Given the description of an element on the screen output the (x, y) to click on. 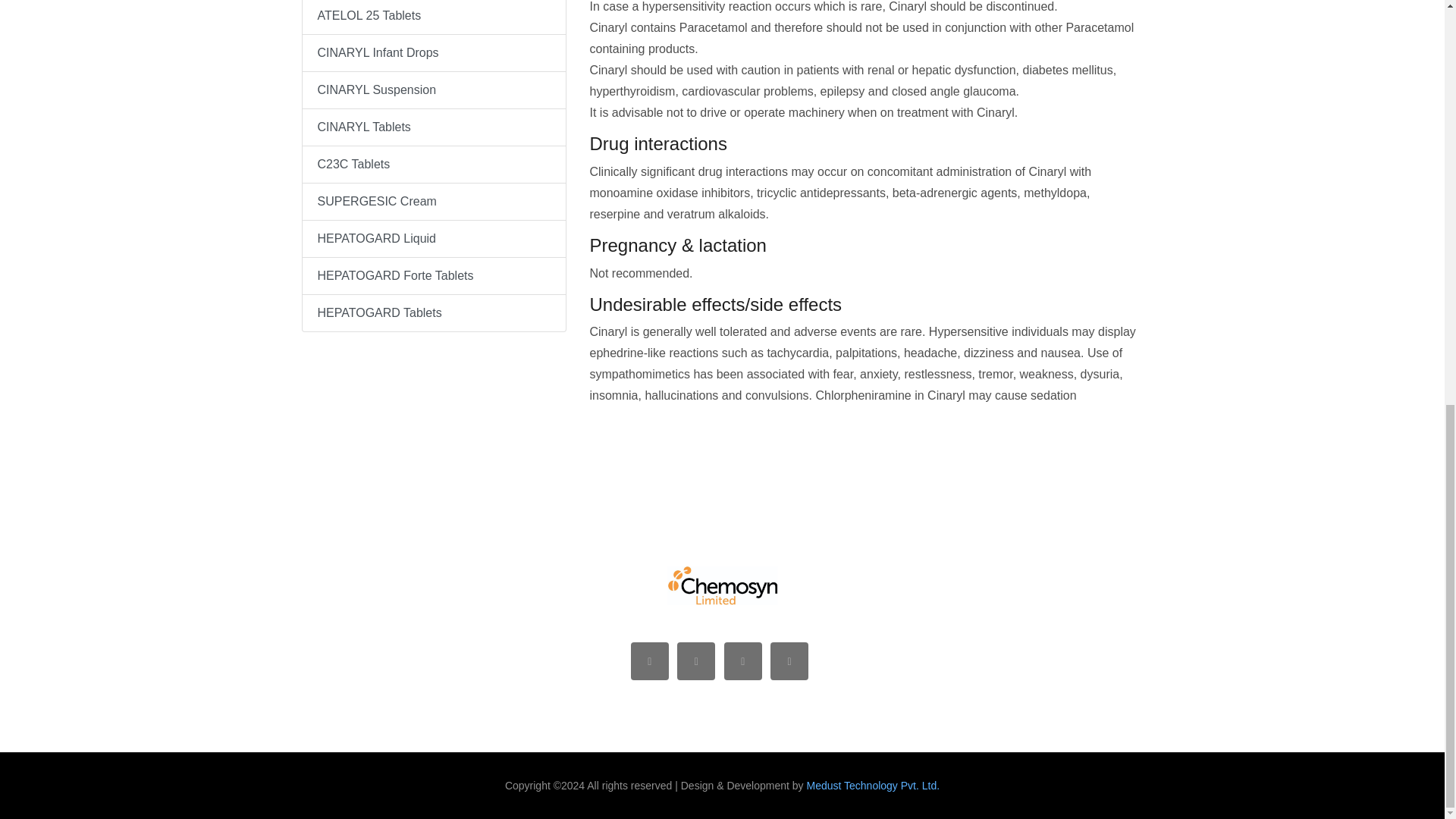
HEPATOGARD Tablets (434, 313)
CINARYL Tablets (434, 127)
C23C Tablets (434, 164)
ATELOL 25 Tablets (434, 17)
HEPATOGARD Forte Tablets (434, 275)
HEPATOGARD Liquid (434, 238)
SUPERGESIC Cream (434, 201)
CINARYL Suspension (434, 90)
CINARYL Infant Drops (434, 53)
